Given the description of an element on the screen output the (x, y) to click on. 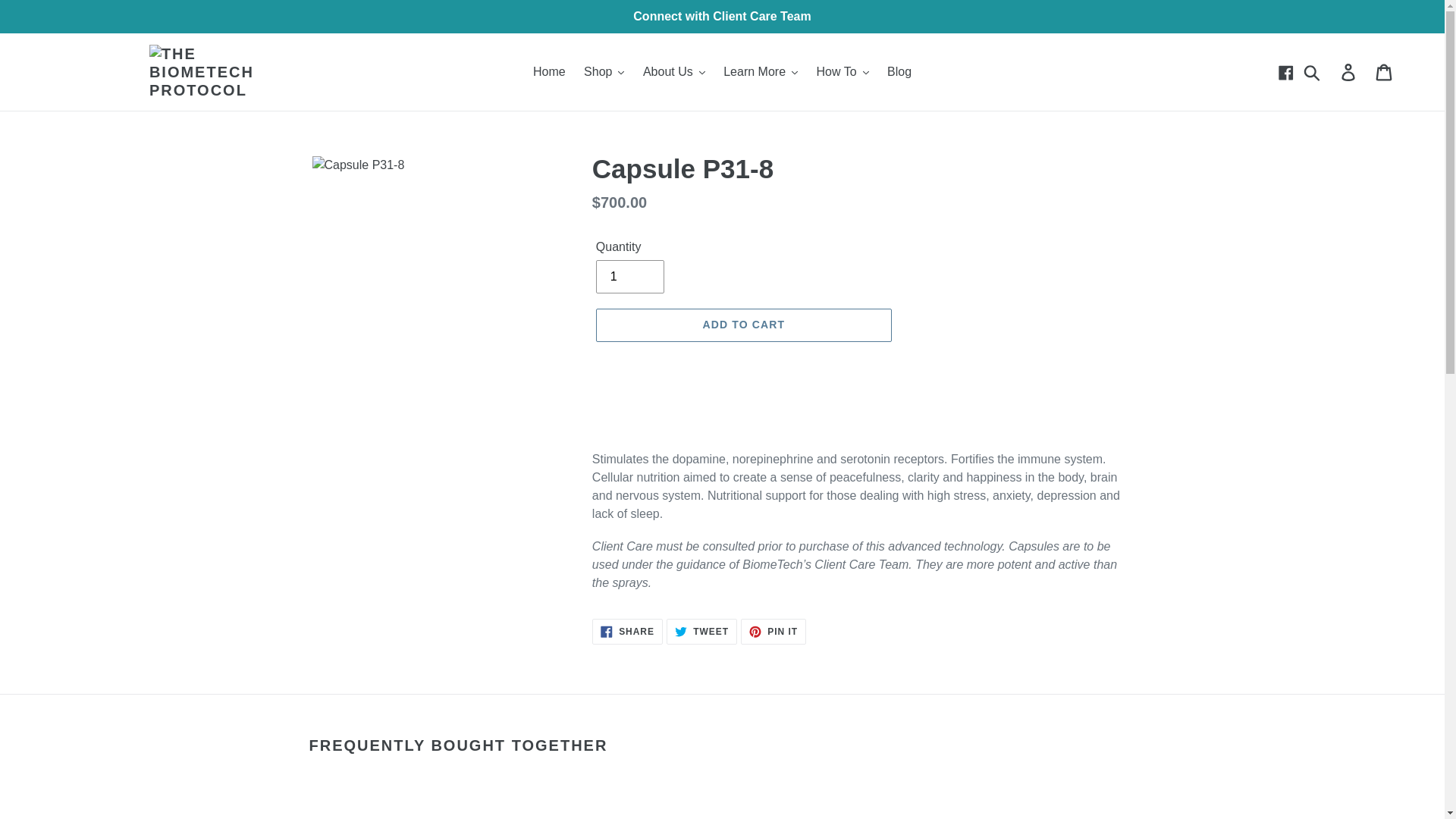
1 (629, 276)
Home (549, 71)
Blog (898, 71)
Cart (1385, 71)
Submit (1313, 71)
Log in (1349, 71)
